Given the description of an element on the screen output the (x, y) to click on. 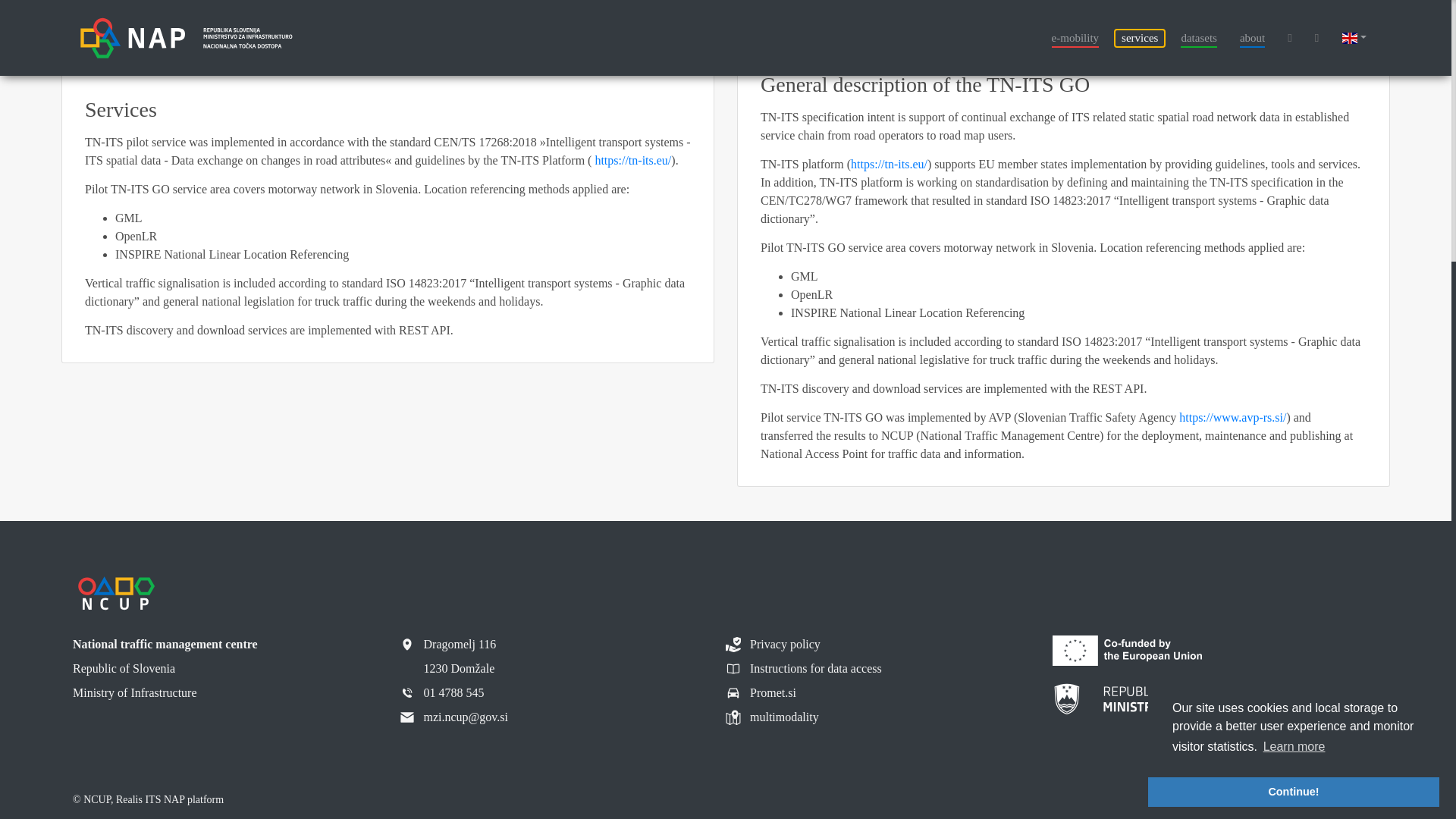
Continue! (1293, 407)
multimodality (771, 717)
Promet.si (760, 692)
Privacy policy (773, 644)
TN-ITS scheme (149, 6)
Instructions for data access (803, 669)
TN-ITS codelists (151, 28)
Learn more (1293, 362)
